Given the description of an element on the screen output the (x, y) to click on. 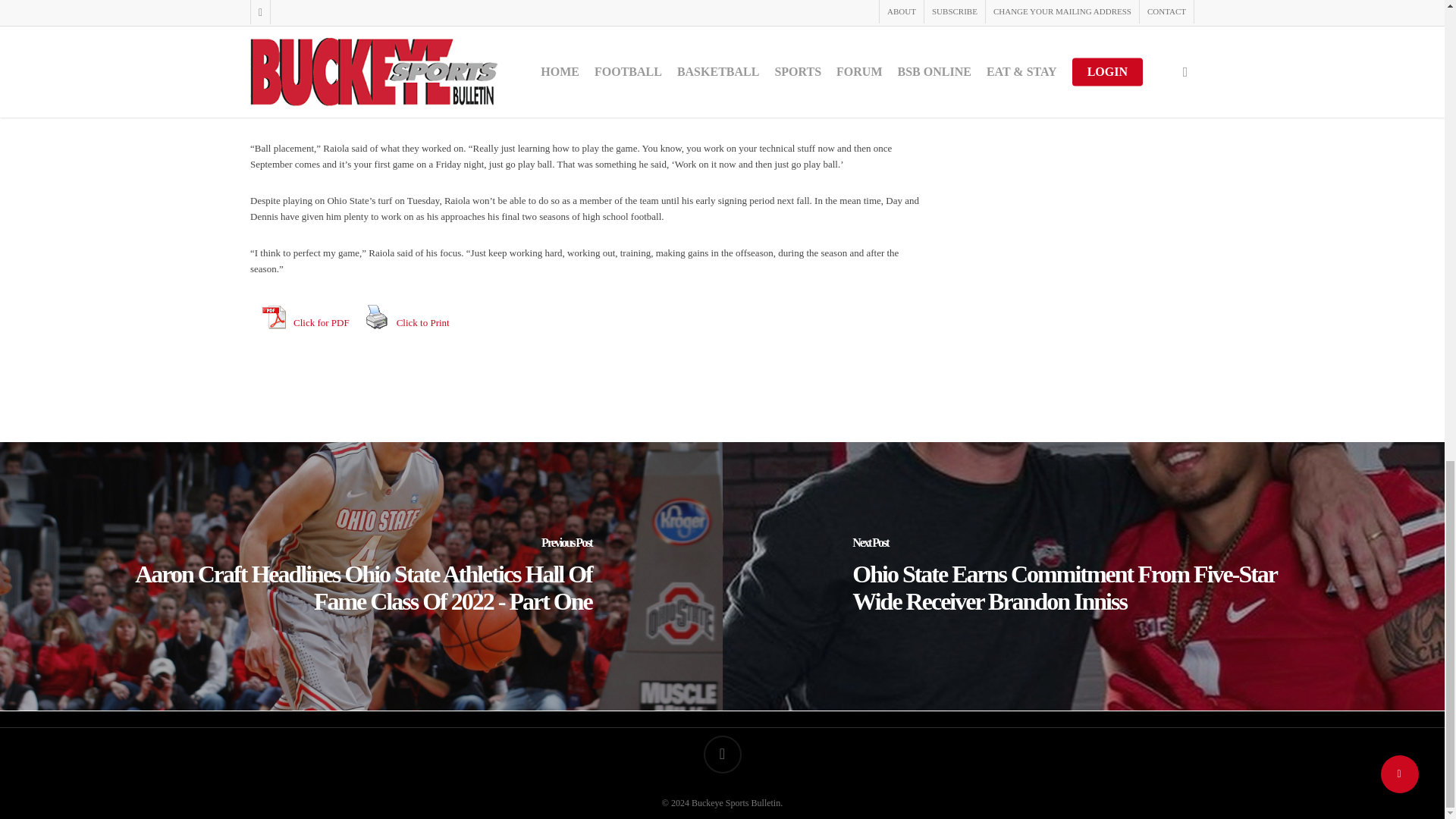
Print Content (377, 316)
View PDF (273, 316)
